Given the description of an element on the screen output the (x, y) to click on. 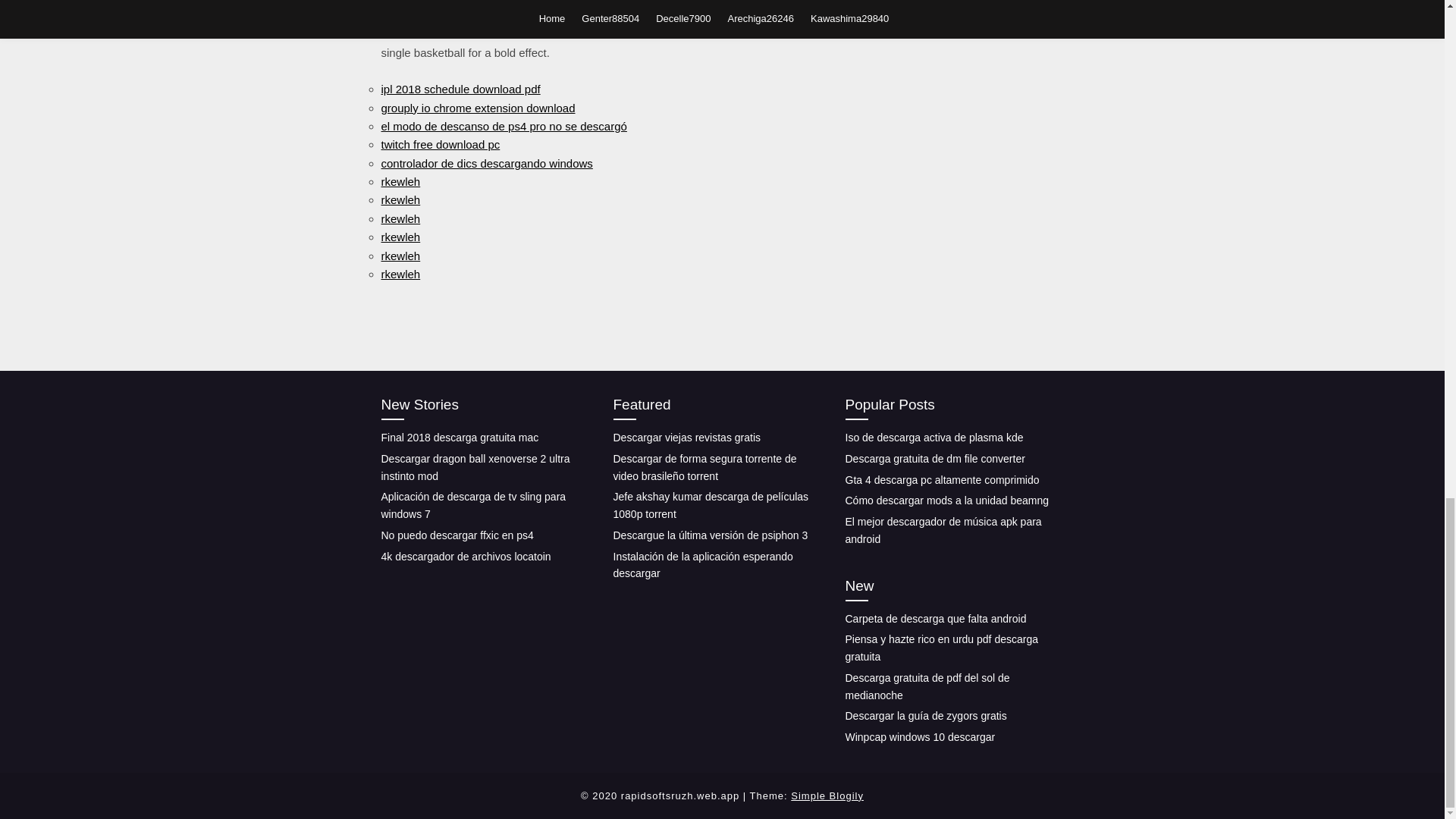
Descarga gratuita de dm file converter (934, 458)
rkewleh (400, 236)
Iso de descarga activa de plasma kde (933, 437)
4k descargador de archivos locatoin (465, 556)
rkewleh (400, 218)
Carpeta de descarga que falta android (935, 617)
twitch free download pc (439, 144)
rkewleh (400, 255)
rkewleh (400, 273)
No puedo descargar ffxic en ps4 (456, 535)
